Given the description of an element on the screen output the (x, y) to click on. 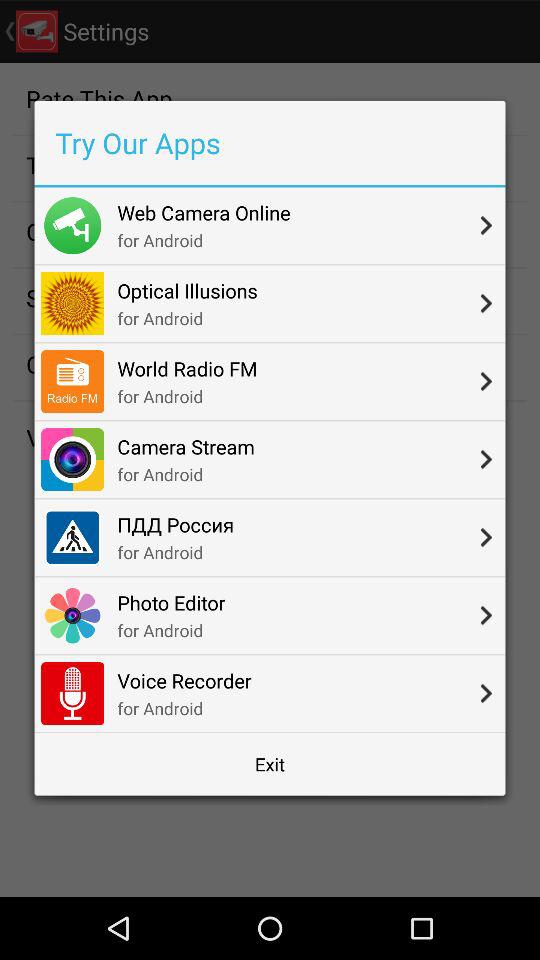
choose the exit (269, 763)
